Given the description of an element on the screen output the (x, y) to click on. 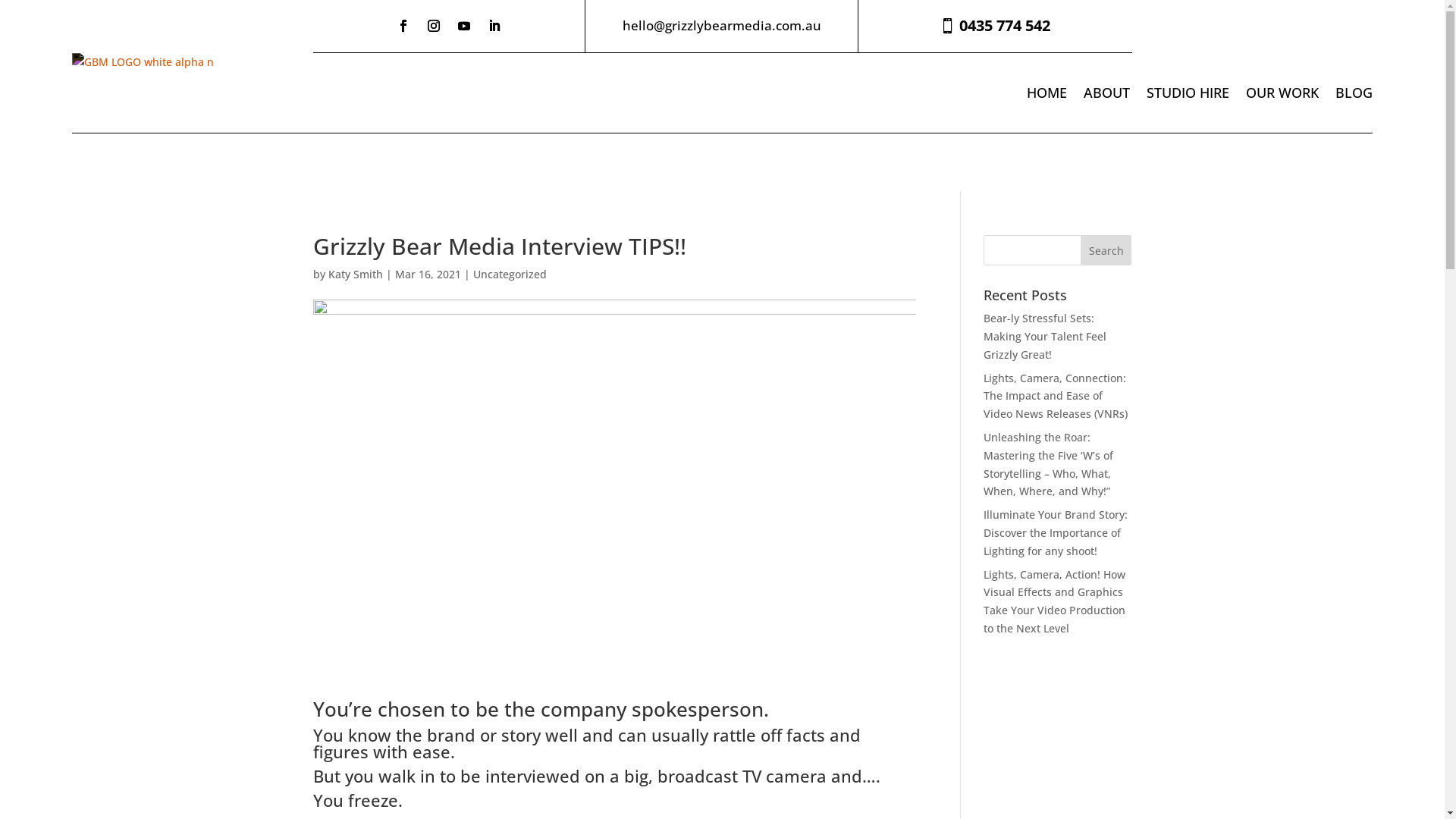
Katy Smith Element type: text (354, 273)
Follow on Youtube Element type: hover (463, 25)
Follow on Instagram Element type: hover (433, 25)
Uncategorized Element type: text (509, 273)
BLOG Element type: text (1353, 92)
OUR WORK Element type: text (1281, 92)
Follow on LinkedIn Element type: hover (494, 25)
HOME Element type: text (1046, 92)
STUDIO HIRE Element type: text (1187, 92)
ABOUT Element type: text (1106, 92)
Search Element type: text (1106, 250)
hello@grizzlybearmedia.com.au Element type: text (721, 25)
Follow on Facebook Element type: hover (403, 25)
0435 774 542 Element type: text (994, 25)
